Given the description of an element on the screen output the (x, y) to click on. 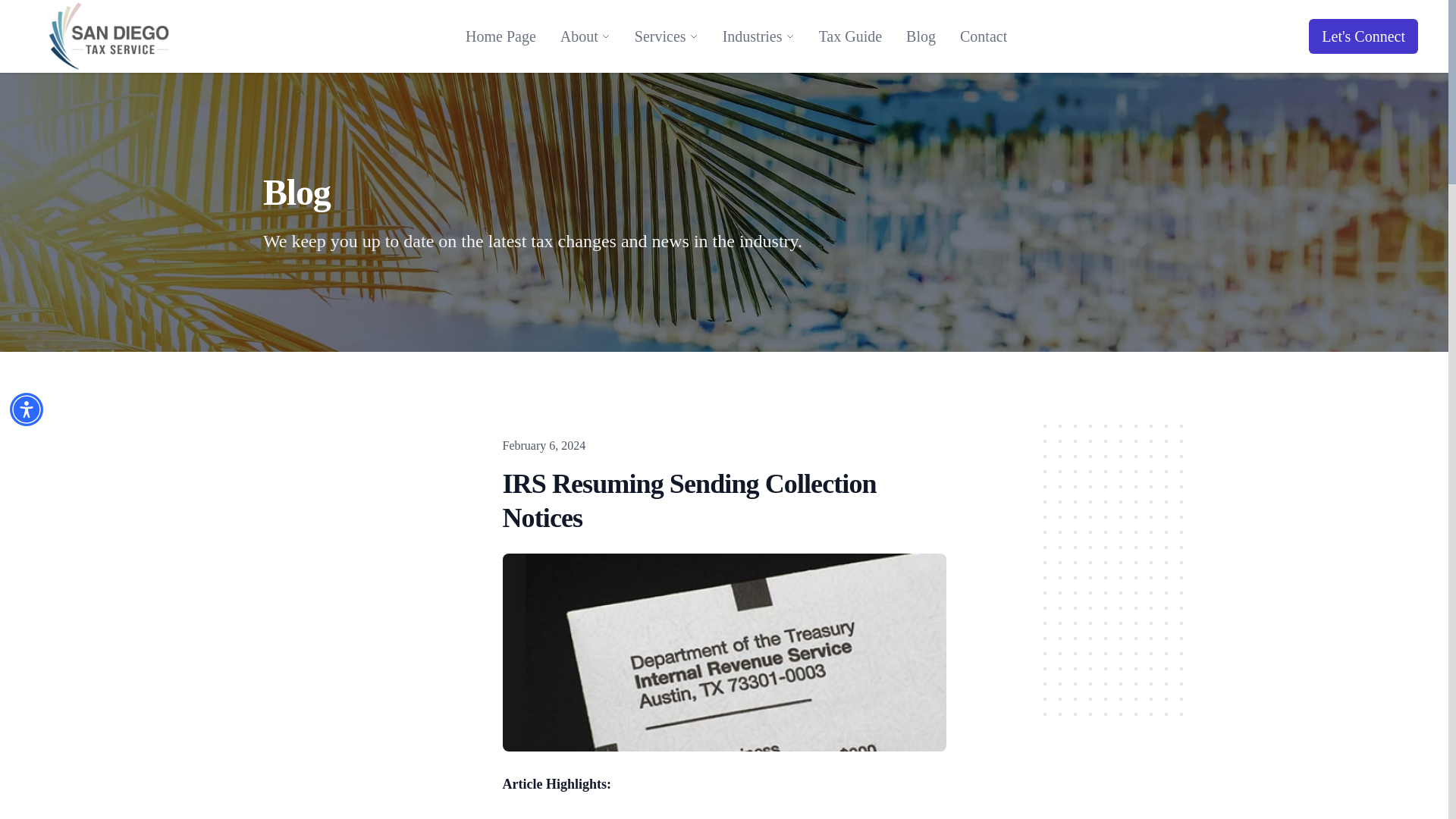
Blog (920, 36)
Tax Guide (850, 36)
Accessibility Menu (26, 409)
Home Page (500, 36)
Let's Connect (1363, 36)
Home Page (500, 36)
Services (659, 35)
San Diego Tax Service (108, 36)
About (579, 35)
Contact (983, 36)
Industries (752, 35)
